Given the description of an element on the screen output the (x, y) to click on. 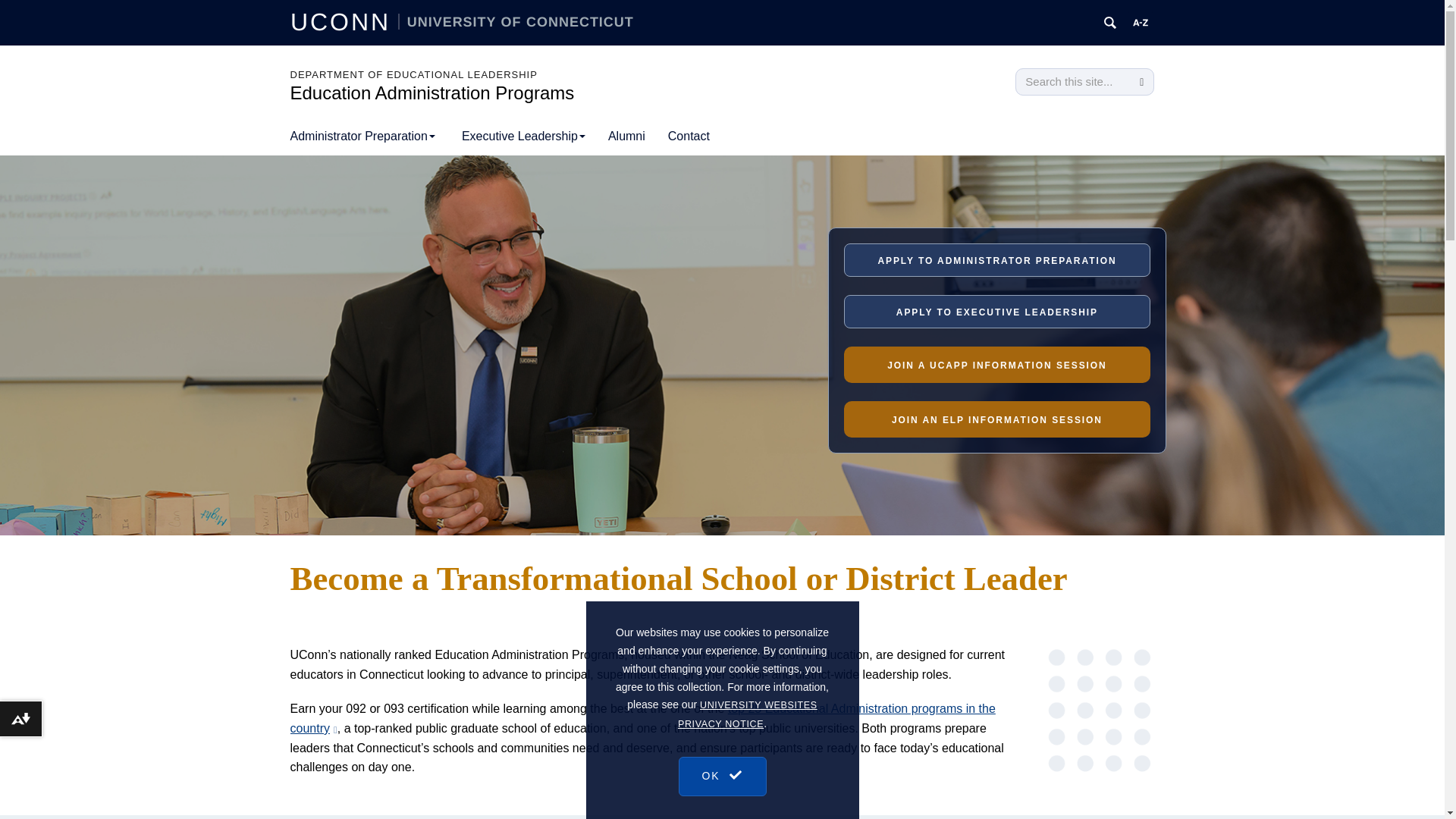
Executive Leadership (522, 136)
Education Administration Programs (431, 92)
UConn A to Z Index (1140, 22)
Search (1141, 81)
Administrator Preparation (362, 136)
APPLY TO ADMINISTRATOR PREPARATION (997, 259)
DEPARTMENT OF EDUCATIONAL LEADERSHIP (413, 74)
Search UConn (1109, 22)
UCONN (343, 21)
UNIVERSITY OF CONNECTICUT (515, 21)
Alumni (626, 136)
Contact (688, 136)
Search (1141, 81)
Search this site...  (1072, 81)
